Given the description of an element on the screen output the (x, y) to click on. 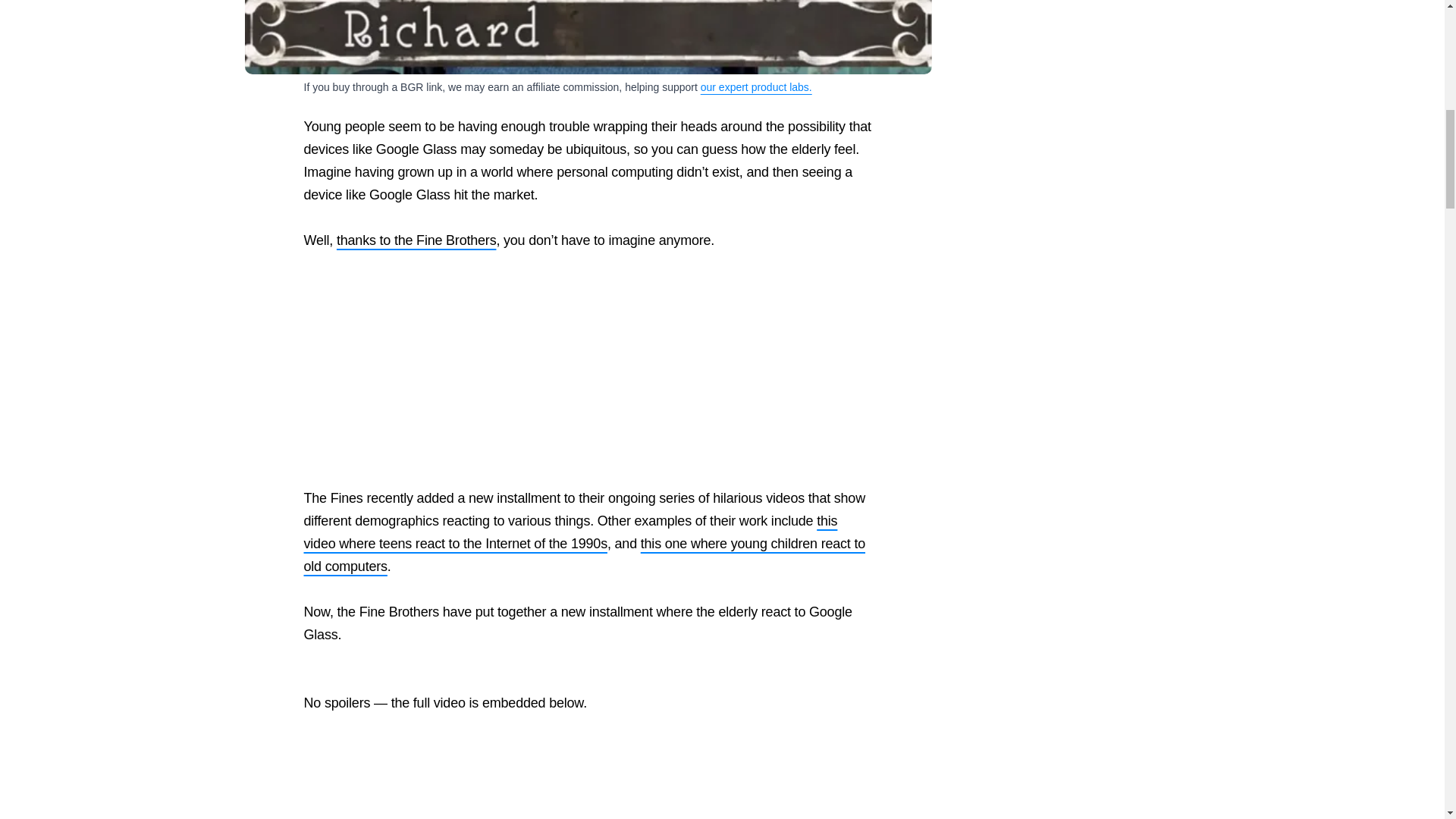
Google Glass Review Elderly (587, 37)
3rd party ad content (587, 369)
